Given the description of an element on the screen output the (x, y) to click on. 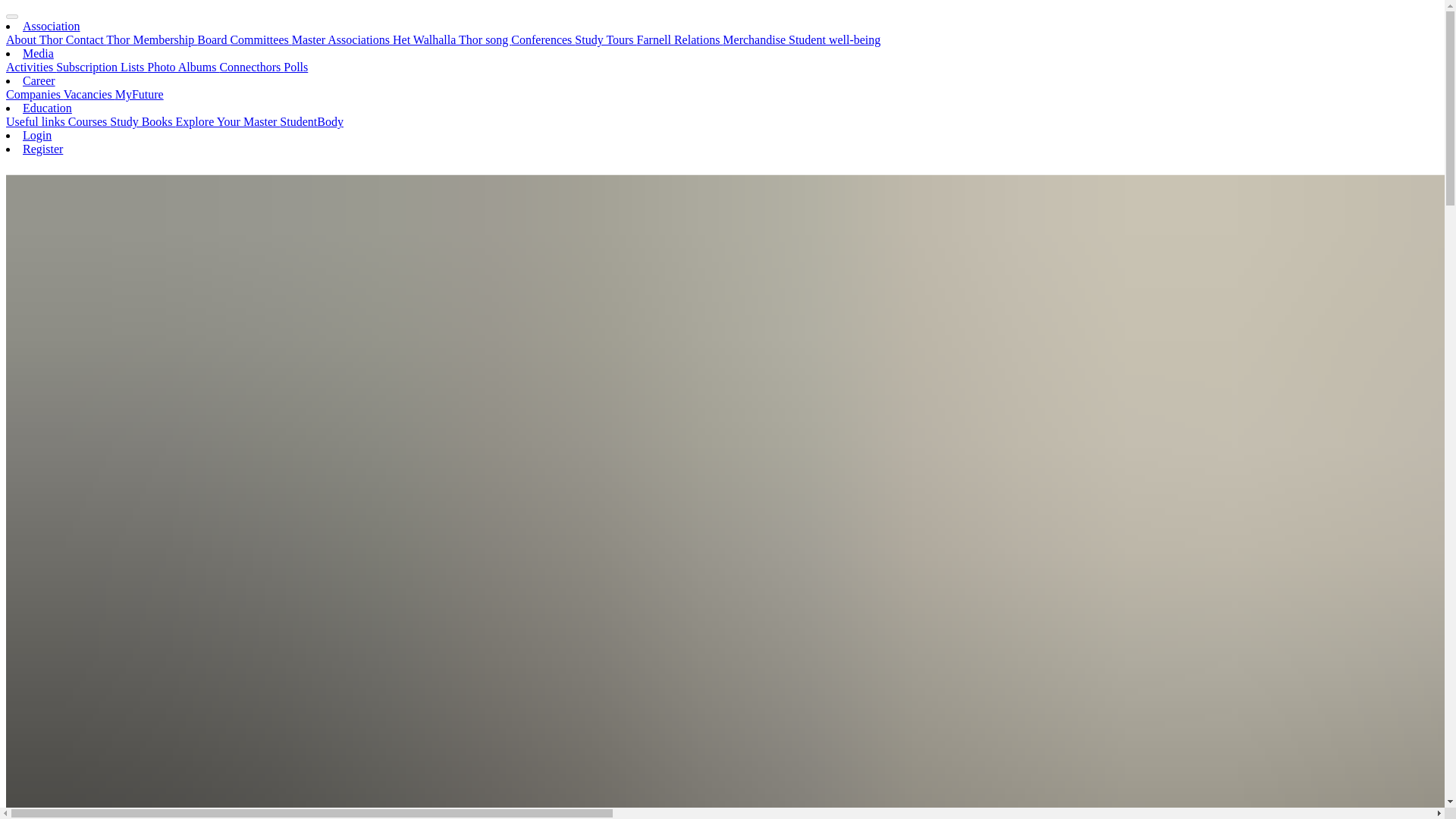
Study Books (142, 121)
About Thor (35, 39)
Media (38, 52)
Thor song (484, 39)
Activities (30, 66)
Merchandise (755, 39)
Vacancies (89, 93)
StudentBody (311, 121)
Subscription Lists (101, 66)
Contact (85, 39)
